Given the description of an element on the screen output the (x, y) to click on. 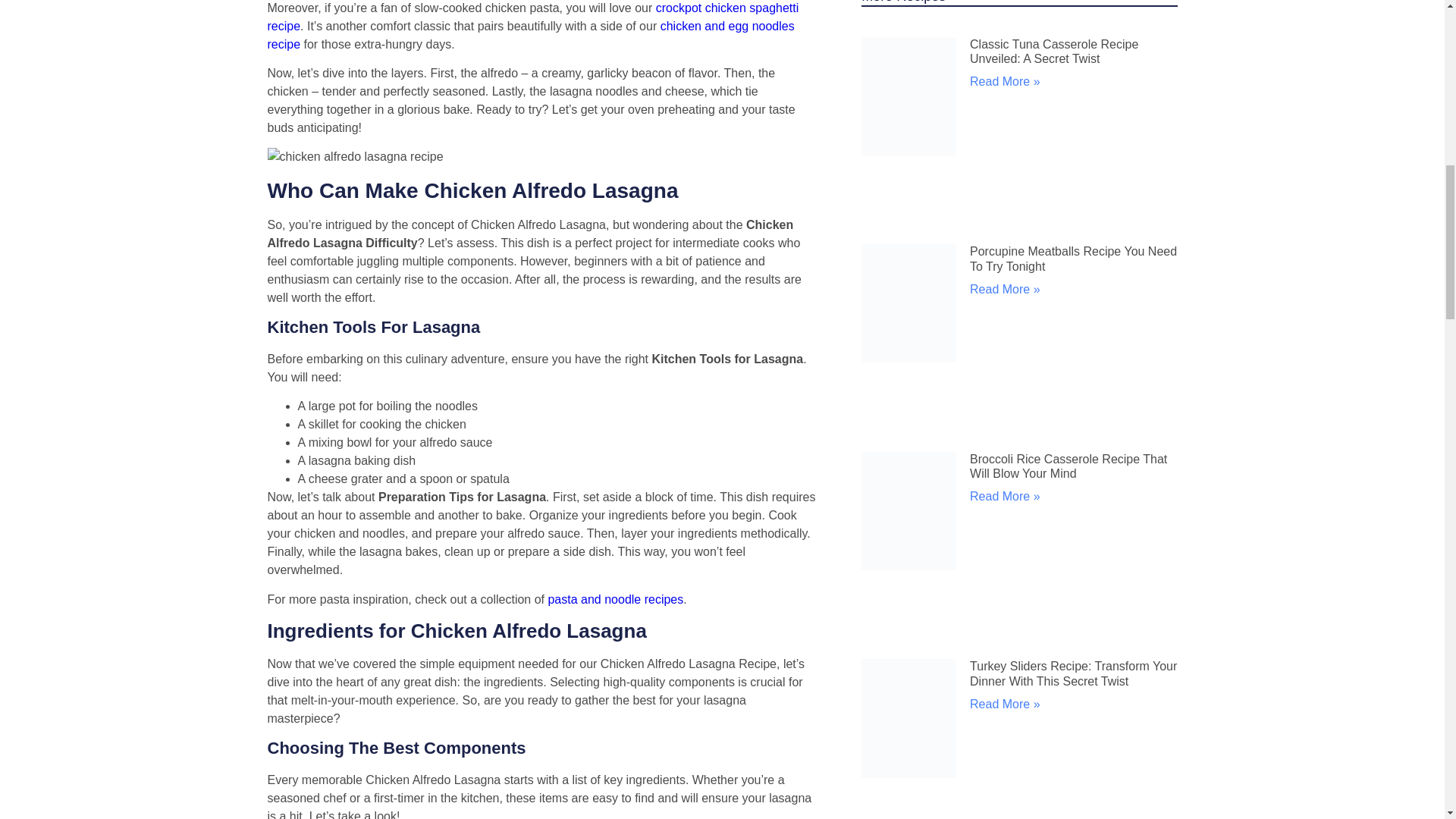
pasta and noodle recipes (614, 599)
chicken and egg noodles recipe (529, 34)
Classic Tuna Casserole Recipe Unveiled: A Secret Twist (1053, 51)
crockpot chicken spaghetti recipe (531, 16)
Who Can Make Chicken Alfredo Lasagna (354, 157)
Porcupine Meatballs Recipe You Need To Try Tonight (1072, 257)
